Given the description of an element on the screen output the (x, y) to click on. 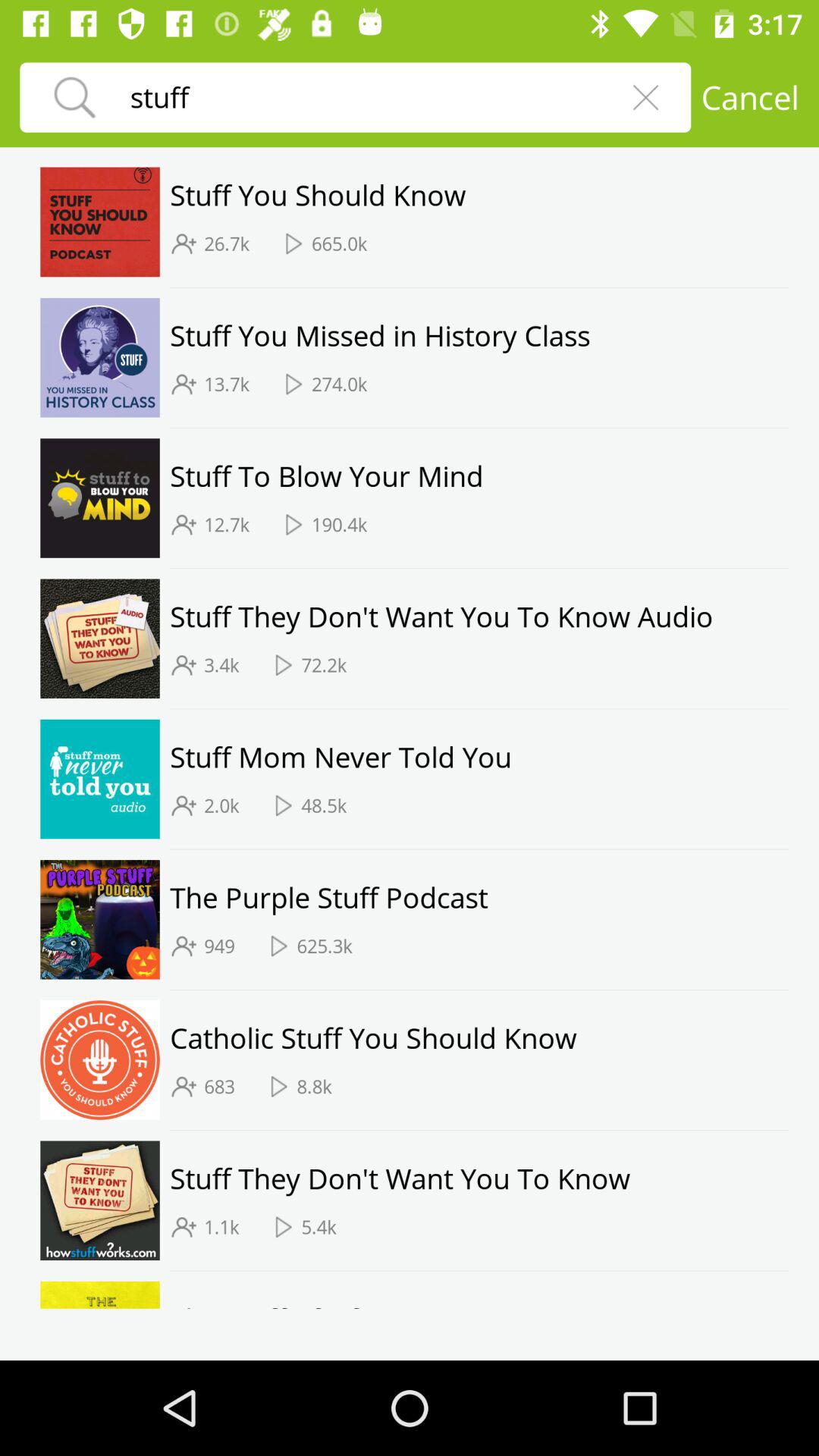
flip until 72.2k icon (323, 664)
